Given the description of an element on the screen output the (x, y) to click on. 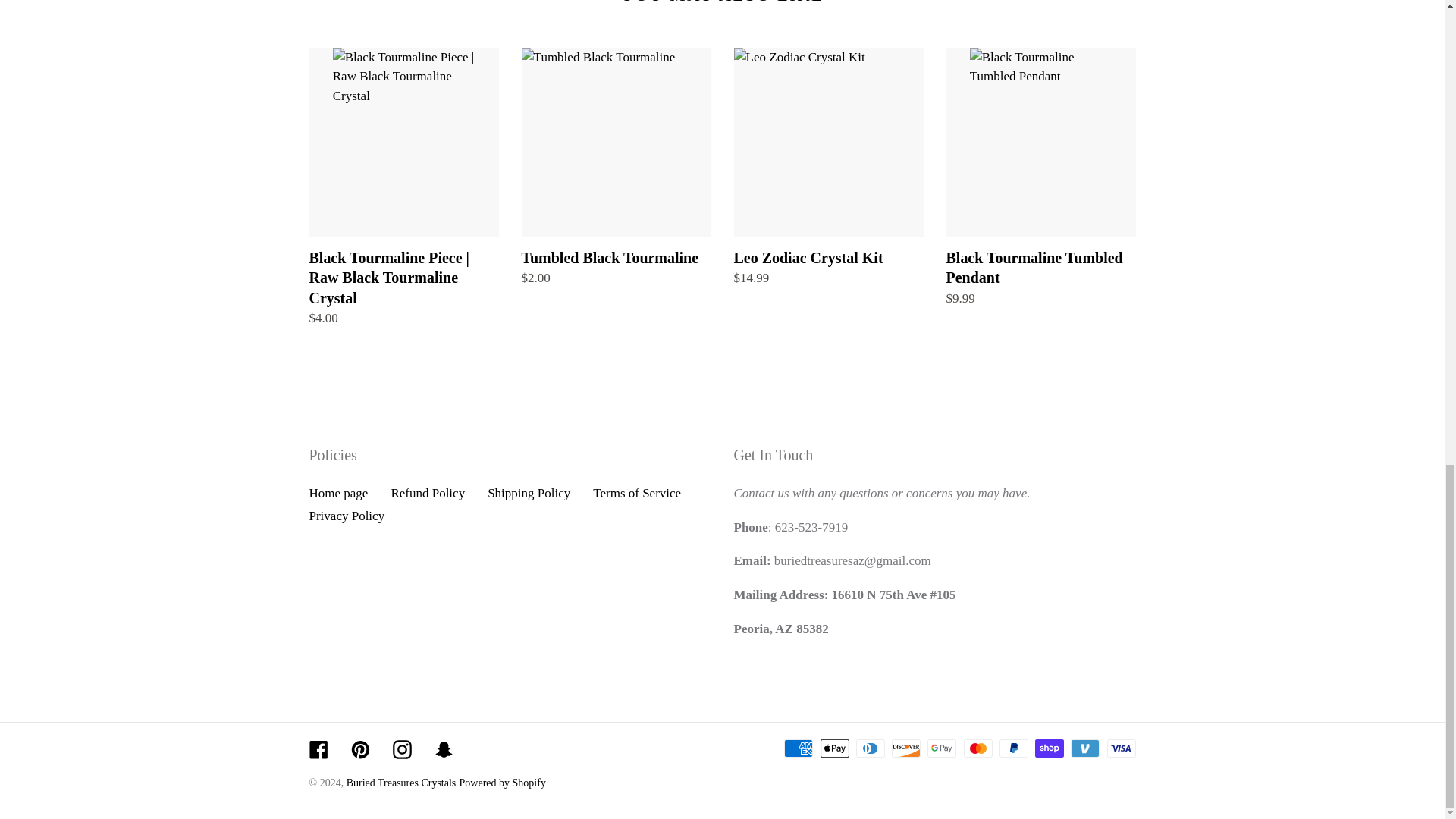
Refund Policy (427, 493)
Home page (338, 493)
Shipping Policy (528, 493)
